Given the description of an element on the screen output the (x, y) to click on. 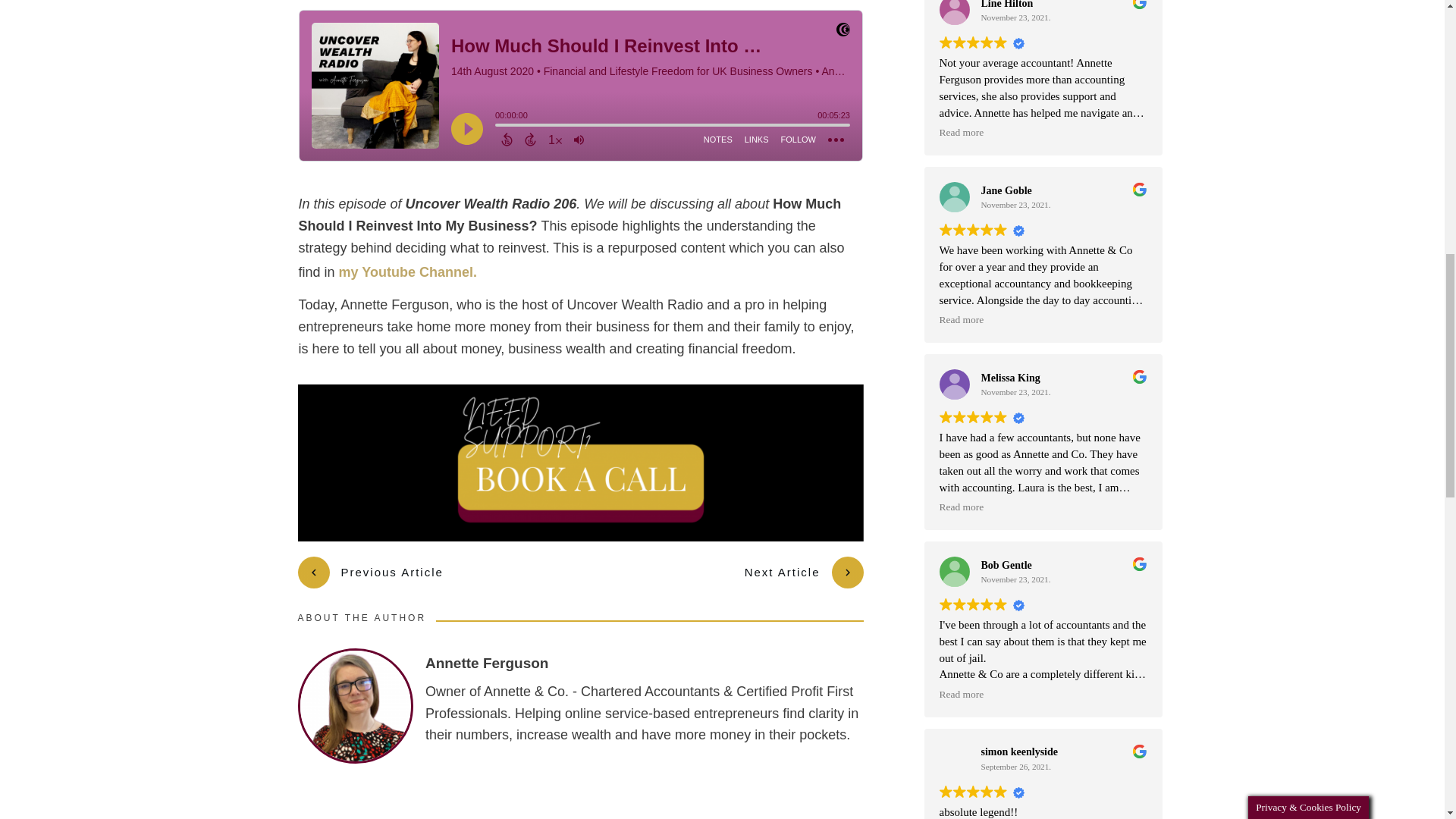
Next Article (803, 572)
my Youtube Channel. (408, 272)
Previous Article  (372, 572)
Annette Ferguson (486, 663)
